Given the description of an element on the screen output the (x, y) to click on. 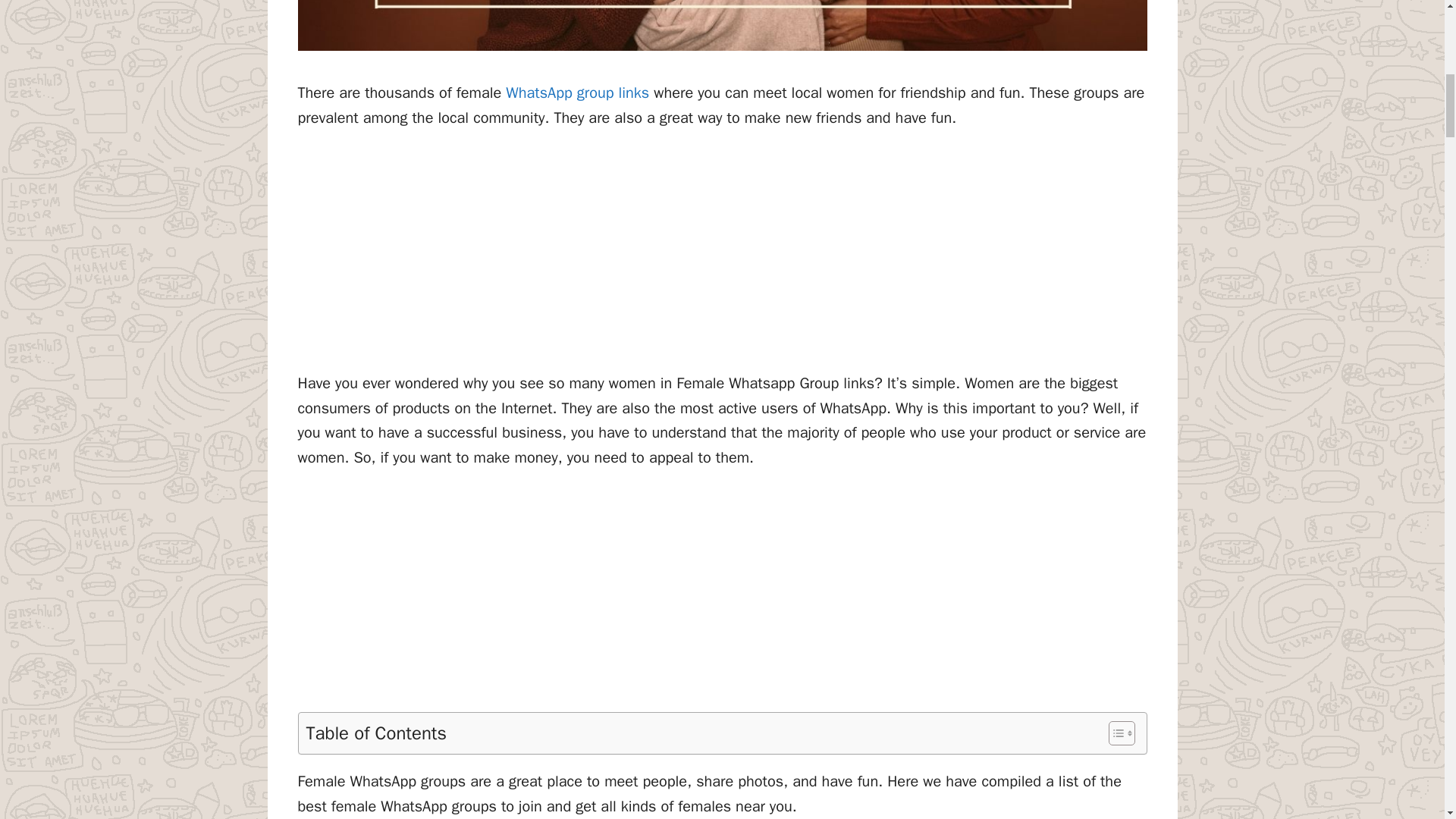
WhatsApp group links (577, 92)
